Given the description of an element on the screen output the (x, y) to click on. 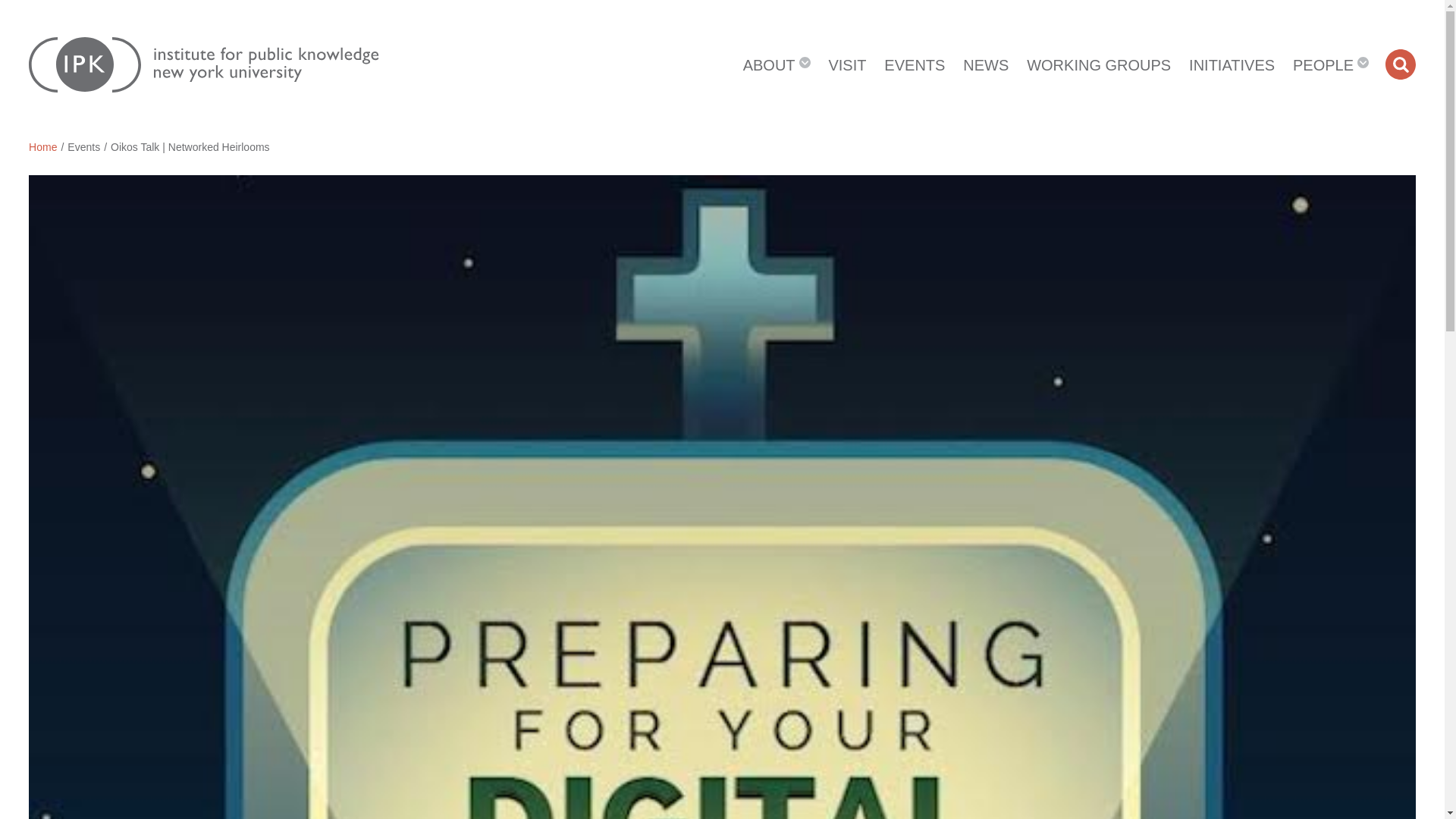
Home (42, 146)
NEWS (985, 64)
ABOUT (776, 64)
EVENTS (914, 64)
Events (83, 146)
INITIATIVES (1231, 64)
PEOPLE (1330, 64)
WORKING GROUPS (1098, 64)
VISIT (847, 64)
